Given the description of an element on the screen output the (x, y) to click on. 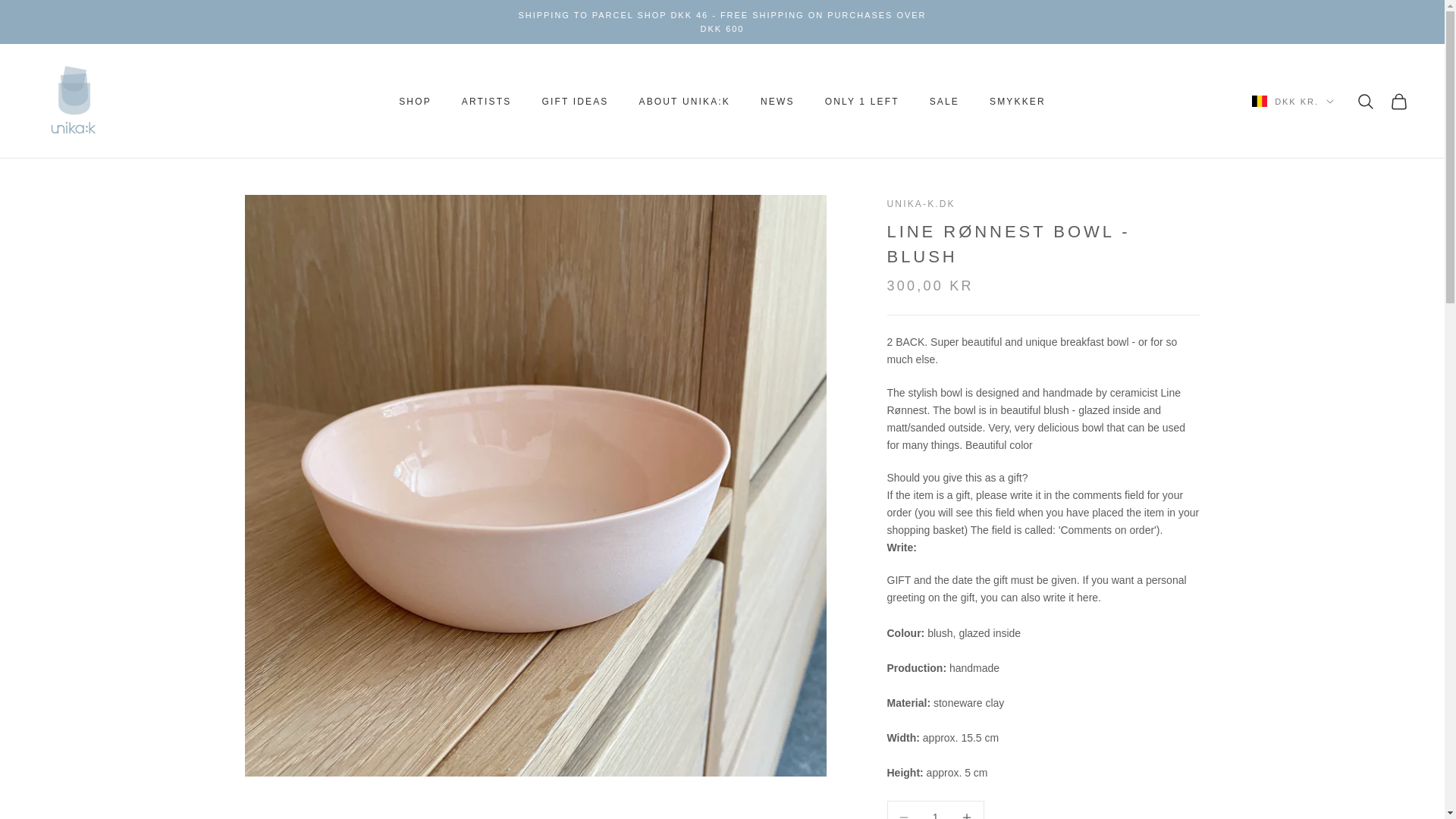
1 (935, 810)
unika-k.dk (74, 101)
